Given the description of an element on the screen output the (x, y) to click on. 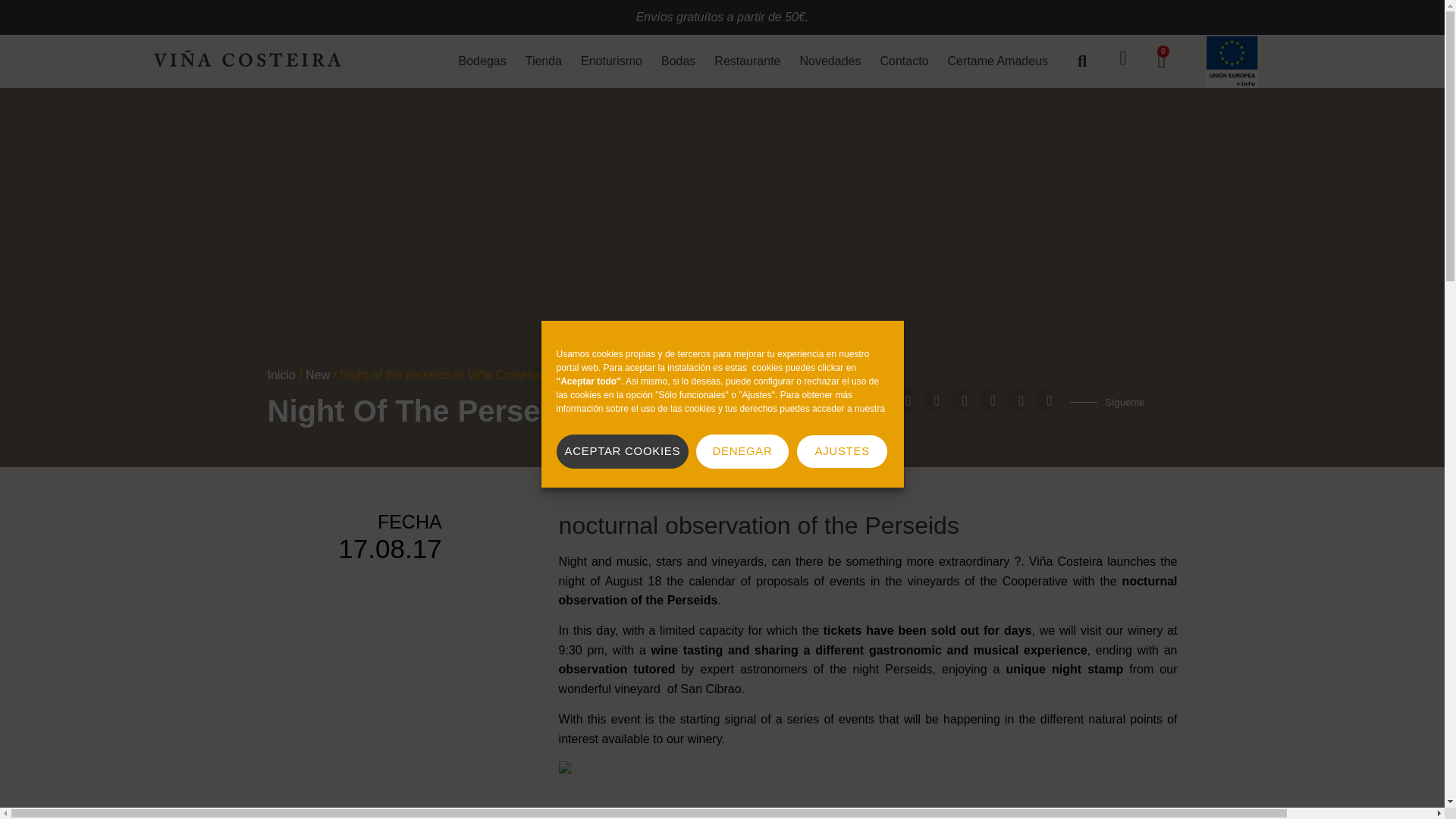
Bodegas (482, 61)
Enoturismo (611, 61)
Inicio (280, 374)
Novedades (830, 61)
ACEPTAR COOKIES (622, 450)
Bodas (678, 61)
New (317, 374)
Tienda (543, 61)
AJUSTES (842, 450)
Certame Amadeus (998, 61)
